Given the description of an element on the screen output the (x, y) to click on. 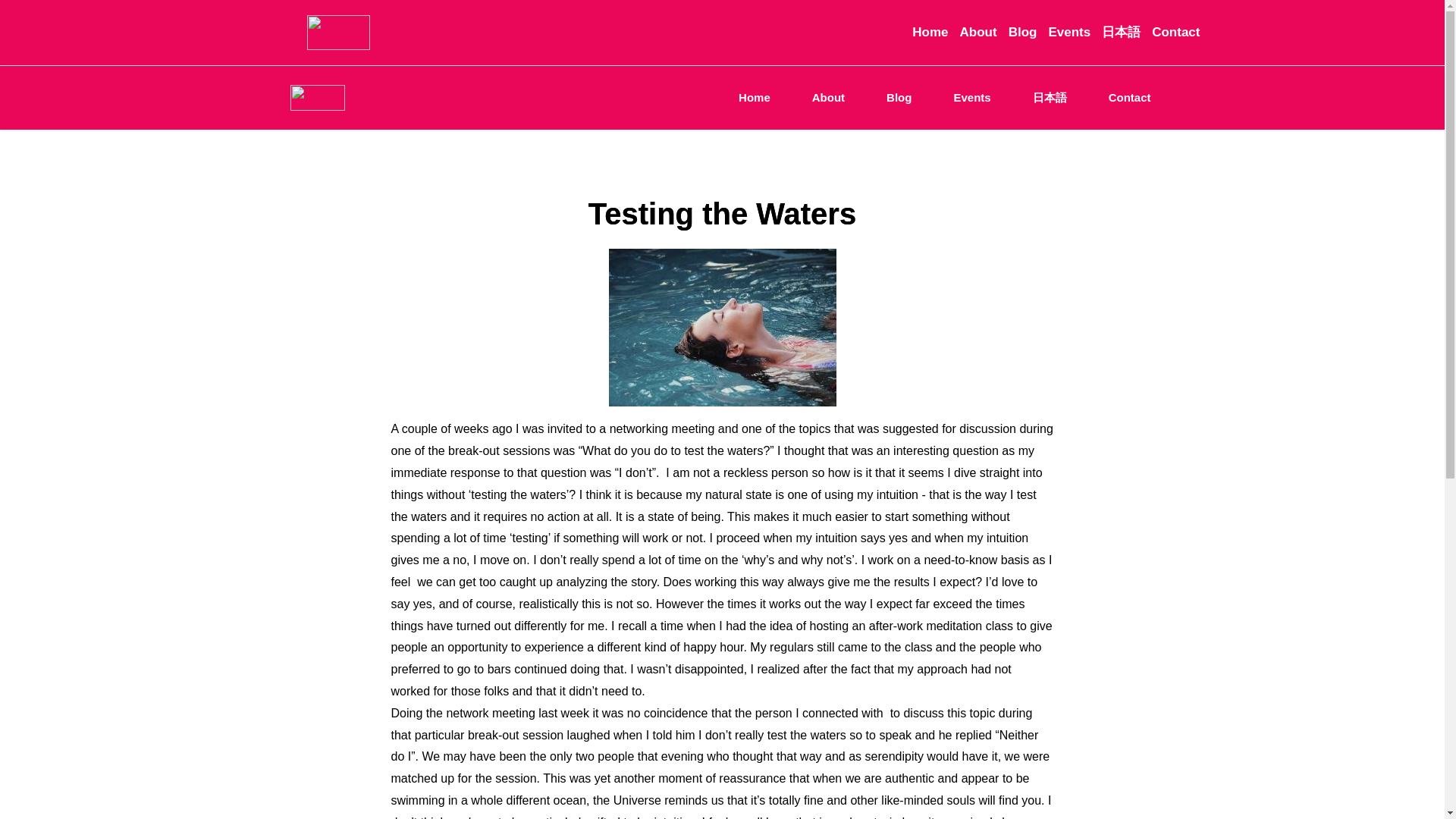
Home (754, 98)
Blog (898, 98)
Home (929, 32)
Contact (1129, 98)
About (828, 98)
About (978, 32)
Events (1069, 32)
Contact (1175, 32)
Events (971, 98)
Blog (1022, 32)
